Given the description of an element on the screen output the (x, y) to click on. 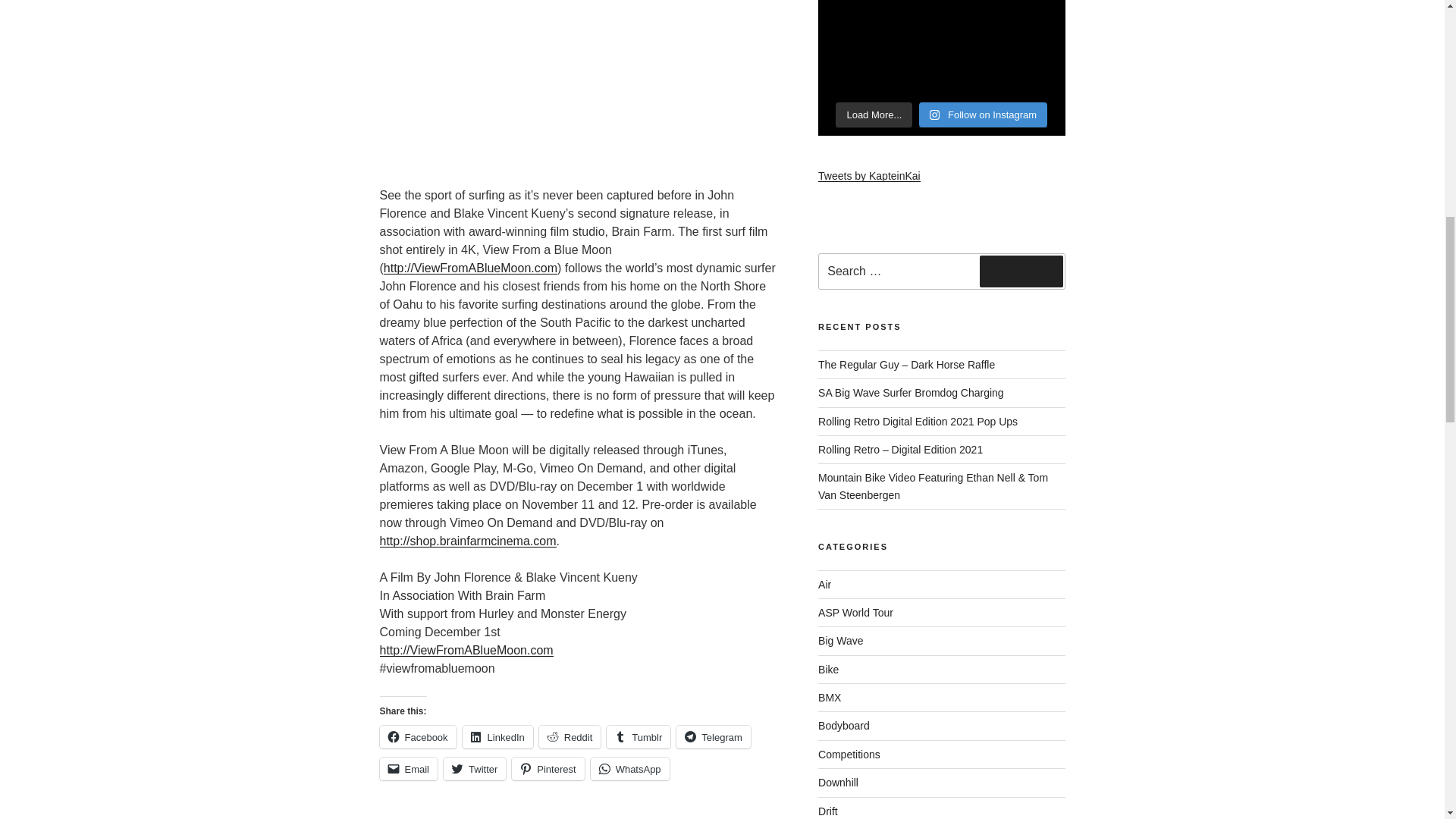
Twitter (474, 768)
Pinterest (547, 768)
LinkedIn (497, 736)
Click to share on Reddit (569, 736)
Click to share on LinkedIn (497, 736)
WhatsApp (630, 768)
Email (408, 768)
Tumblr (638, 736)
Telegram (713, 736)
Click to share on WhatsApp (630, 768)
Reddit (569, 736)
Click to share on Twitter (474, 768)
Click to share on Facebook (416, 736)
Click to share on Pinterest (547, 768)
Facebook (416, 736)
